Given the description of an element on the screen output the (x, y) to click on. 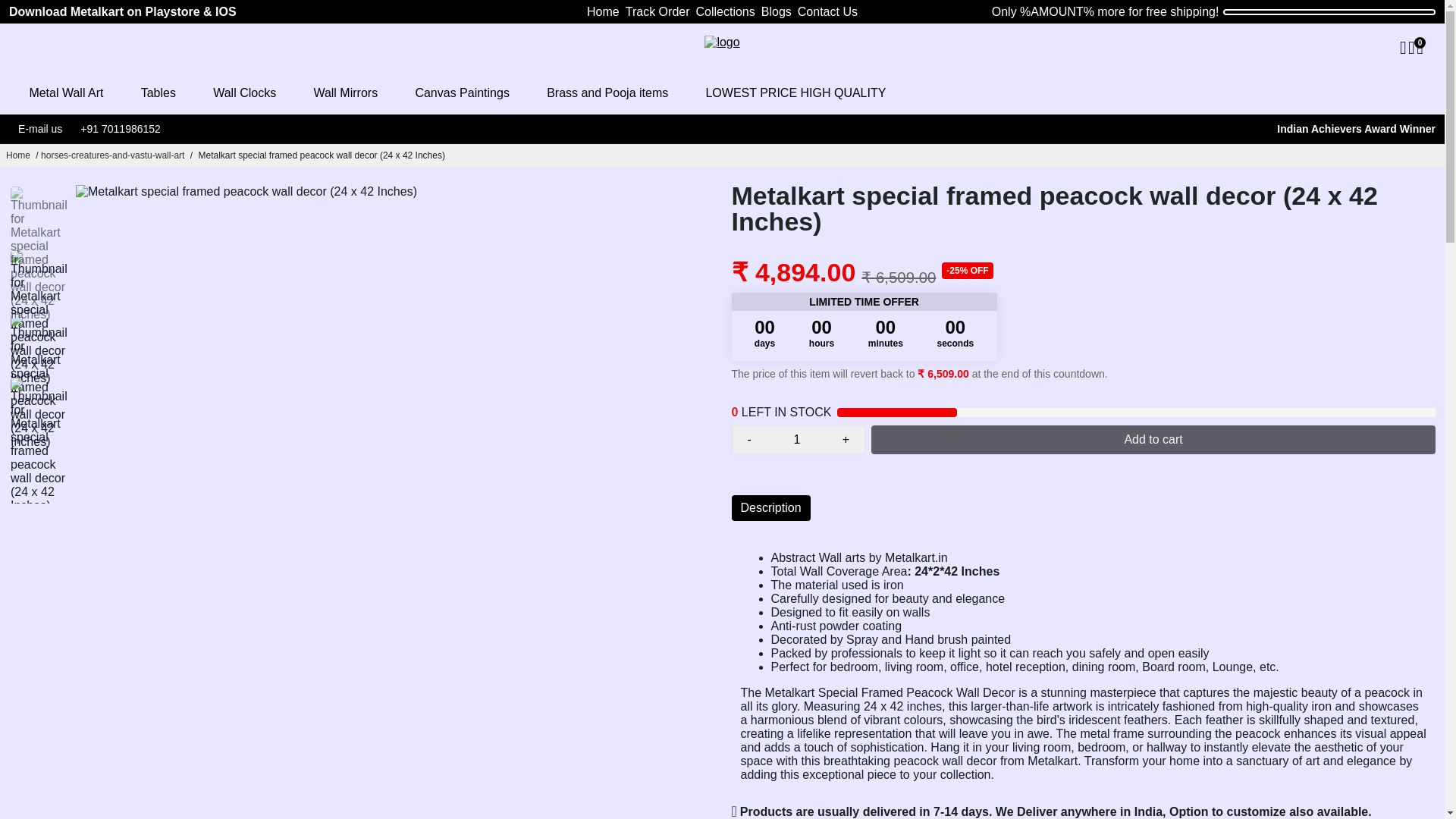
1 (797, 439)
Wall Mirrors (345, 93)
Contact Us (827, 11)
Blogs (776, 11)
Collections (725, 11)
Home (603, 11)
About Us (1355, 129)
Track Order (658, 11)
Metal Wall Art (65, 93)
Wall Clocks (244, 93)
